Given the description of an element on the screen output the (x, y) to click on. 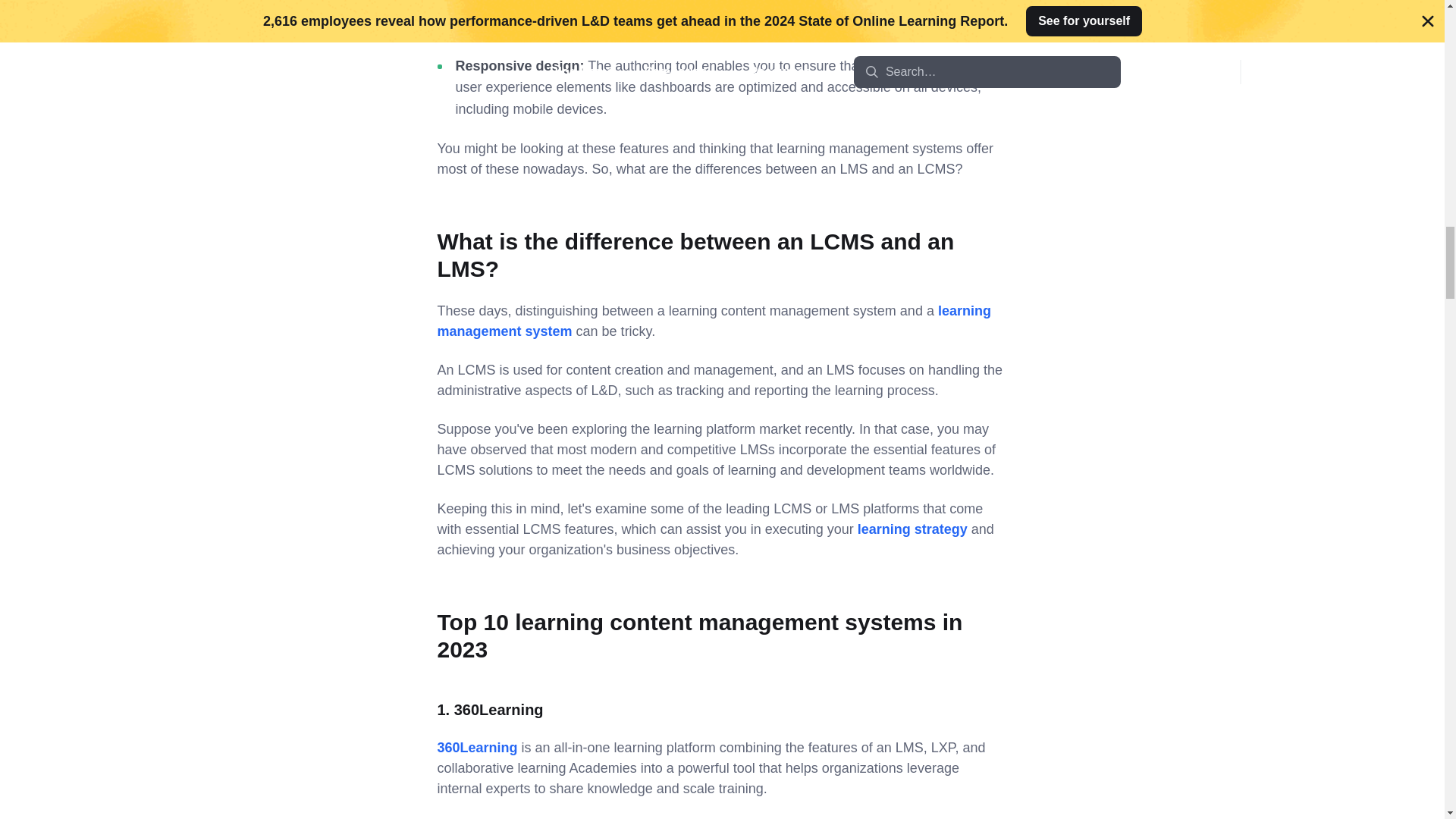
learning strategy (912, 529)
360Learning (476, 747)
learning management system (713, 321)
Top 10 learning content management systems in 2023 (699, 635)
What is the difference between an LCMS and an LMS? (694, 255)
1. 360Learning (489, 709)
